Given the description of an element on the screen output the (x, y) to click on. 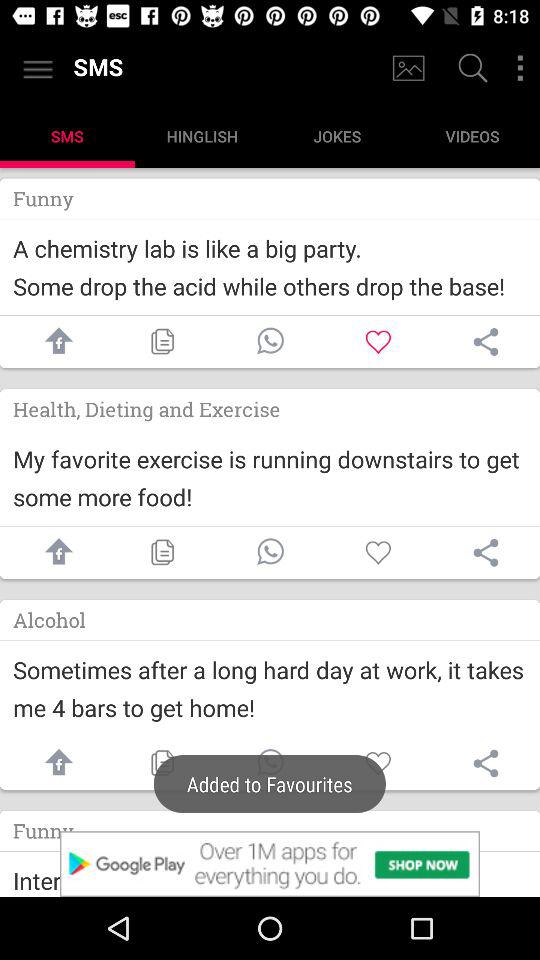
share on whatsapp (270, 552)
